Given the description of an element on the screen output the (x, y) to click on. 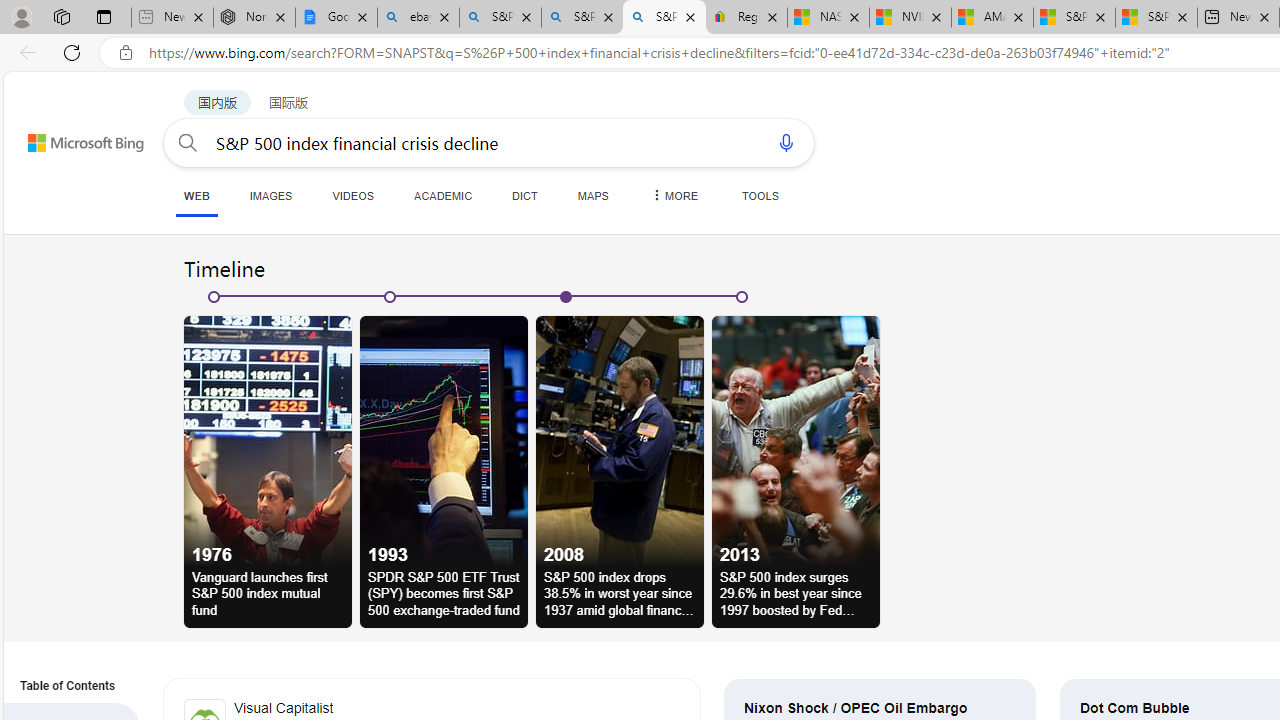
Search using voice (785, 142)
TOOLS (760, 195)
Skip to content (63, 133)
Register: Create a personal eBay account (746, 17)
IMAGES (270, 195)
Google Docs: Online Document Editor | Google Workspace (336, 17)
